Given the description of an element on the screen output the (x, y) to click on. 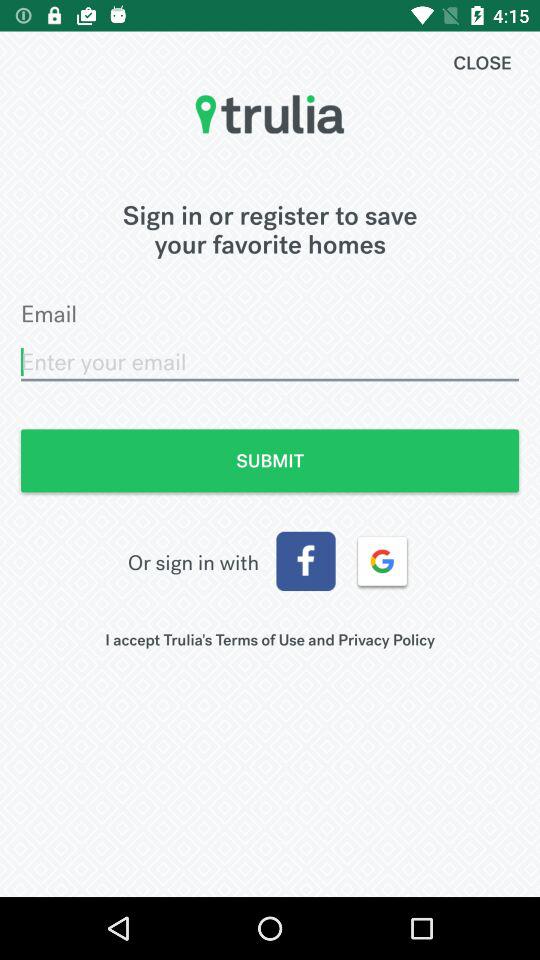
scroll to the submit icon (270, 460)
